Given the description of an element on the screen output the (x, y) to click on. 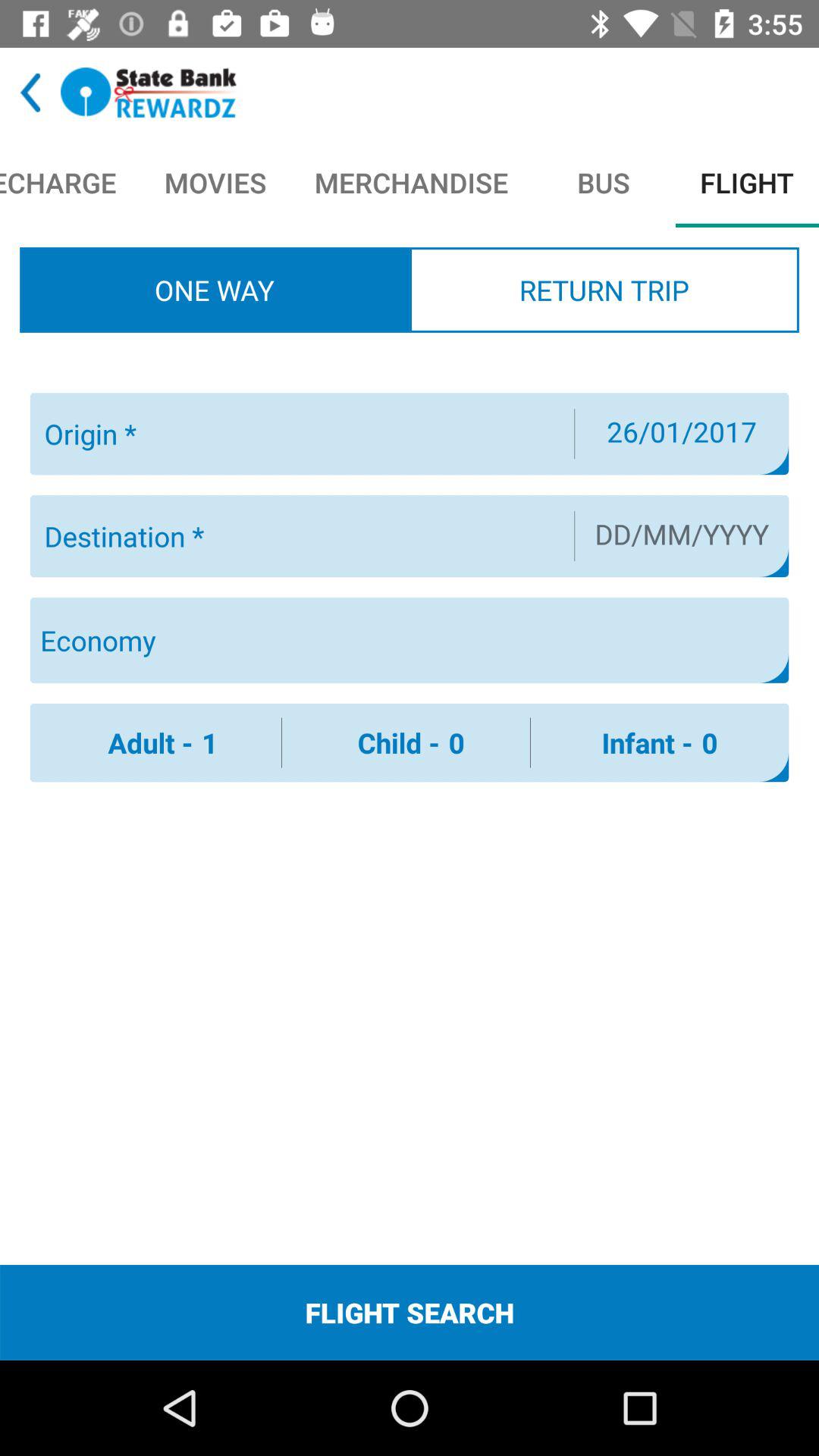
identify given page (148, 92)
